Given the description of an element on the screen output the (x, y) to click on. 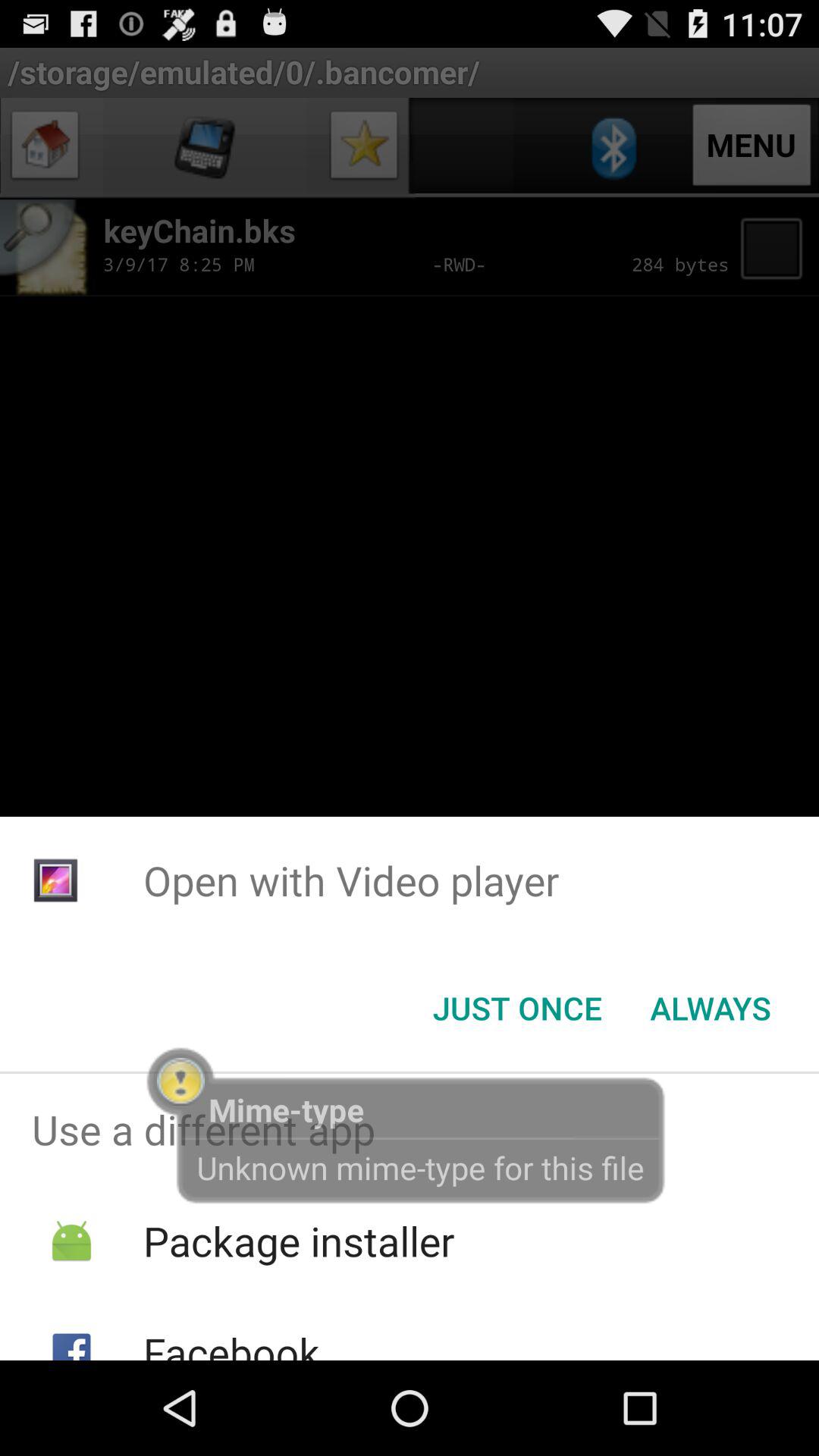
select always item (710, 1007)
